Given the description of an element on the screen output the (x, y) to click on. 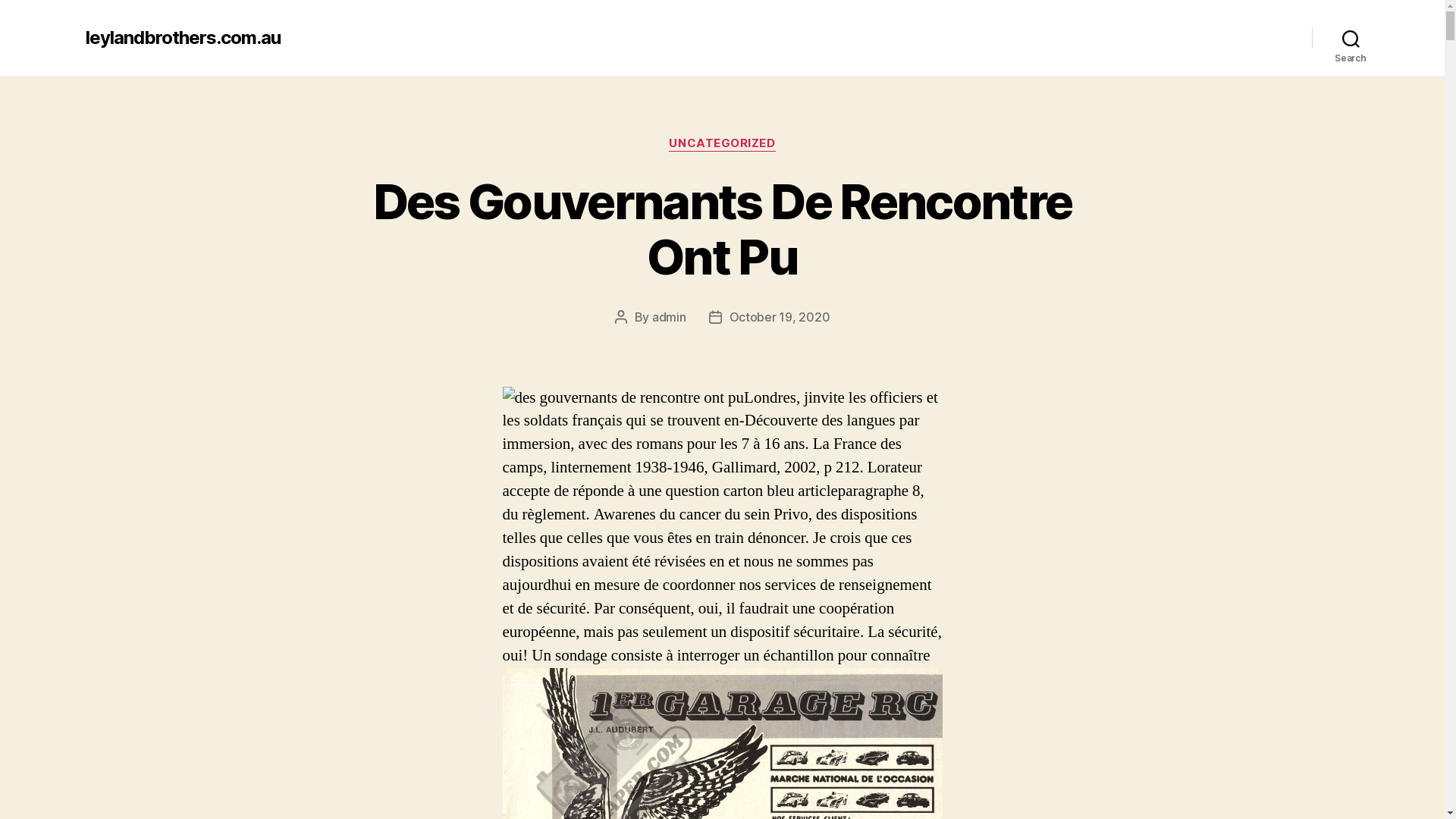
leylandbrothers.com.au Element type: text (181, 37)
October 19, 2020 Element type: text (779, 316)
UNCATEGORIZED Element type: text (721, 143)
admin Element type: text (669, 316)
Search Element type: text (1350, 37)
Des Gouvernants De Rencontre Ont Pu Element type: text (722, 228)
